Given the description of an element on the screen output the (x, y) to click on. 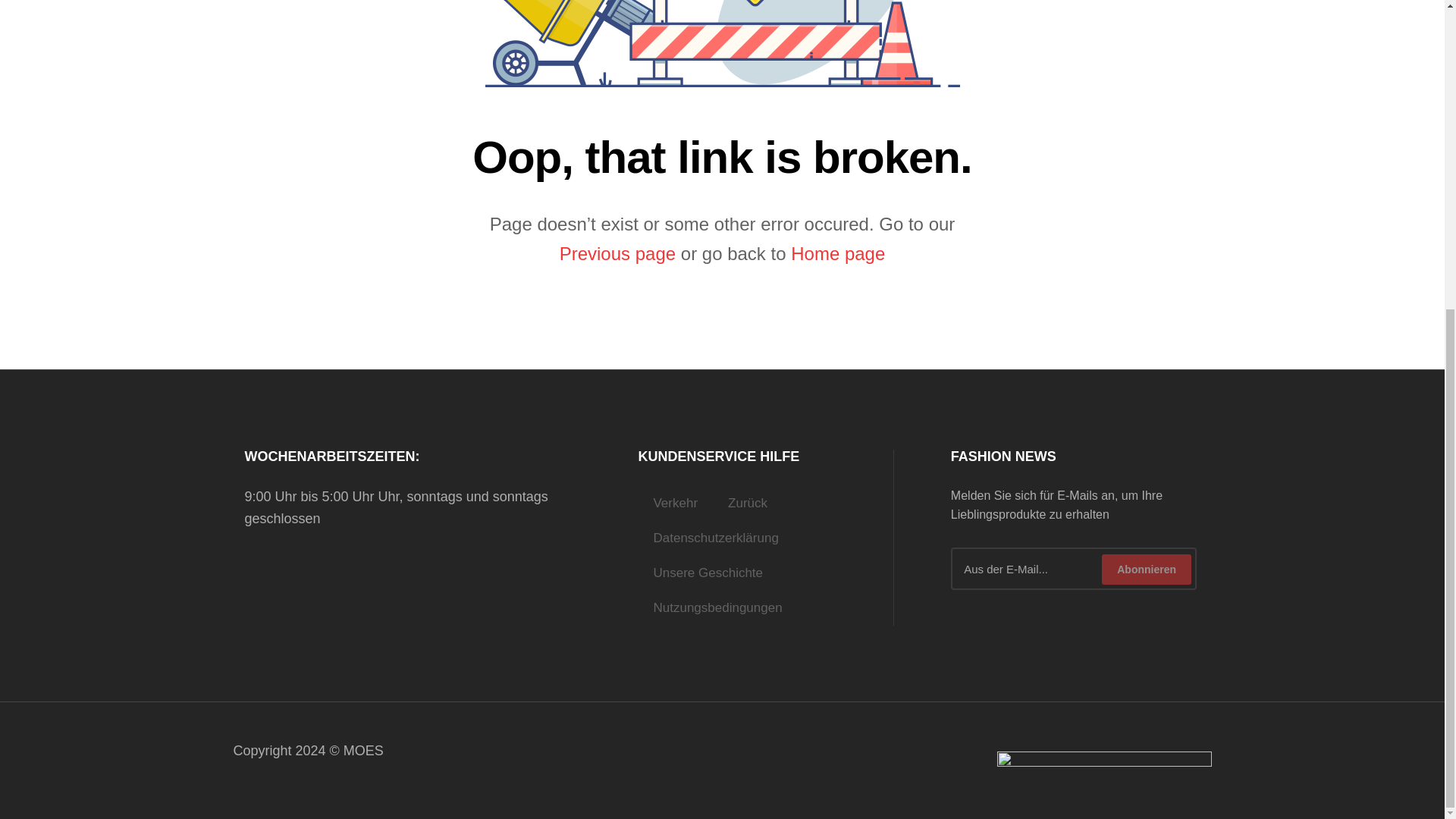
Previous page (617, 253)
Unsere Geschichte (707, 573)
Abonnieren (1146, 569)
Nutzungsbedingungen (716, 607)
Verkehr (675, 503)
Home page (837, 253)
